Given the description of an element on the screen output the (x, y) to click on. 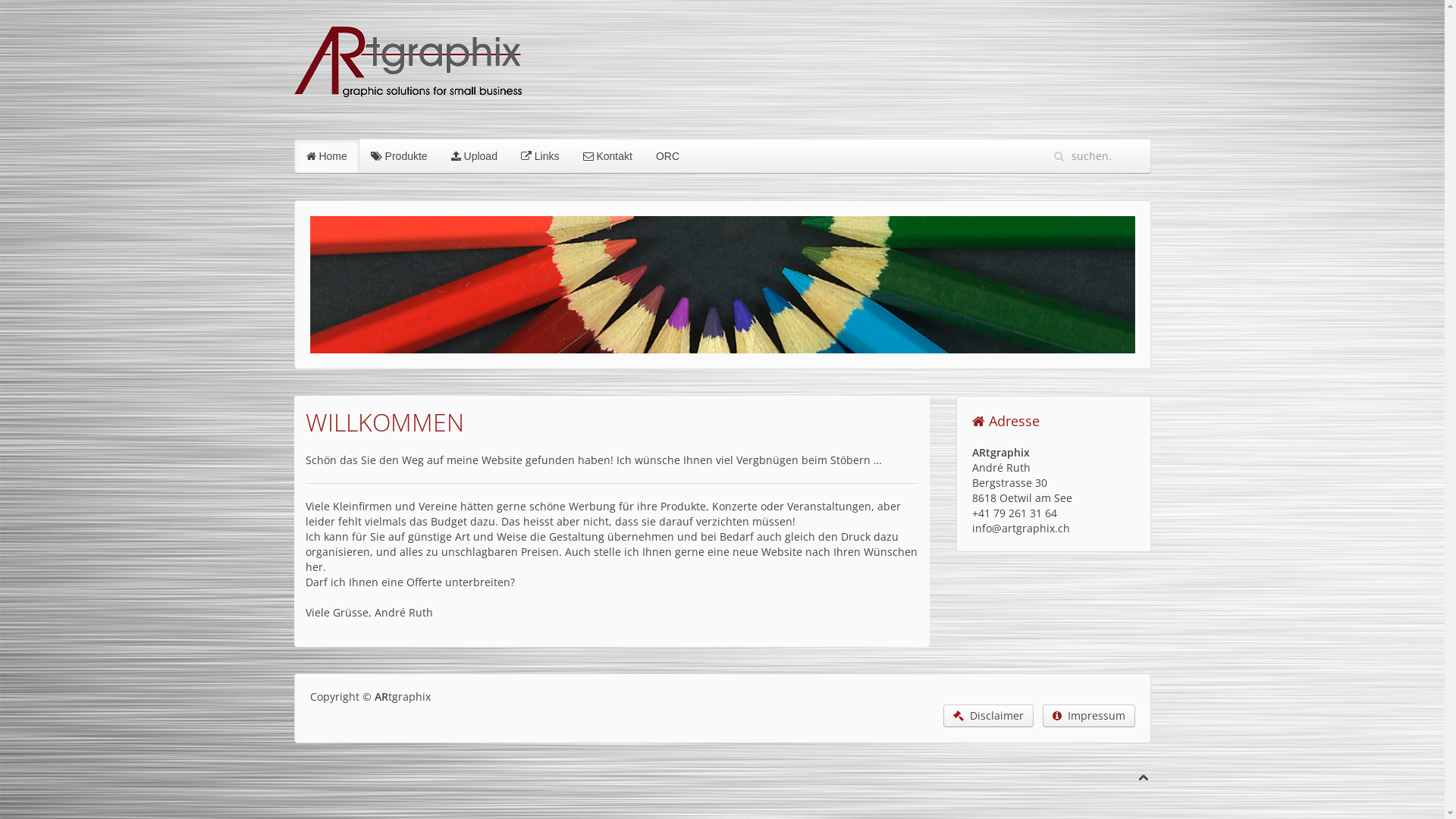
Kontakt Element type: text (607, 155)
Links Element type: text (539, 155)
ORC Element type: text (667, 155)
Produkte Element type: text (398, 155)
Home Element type: text (326, 155)
Upload Element type: text (474, 155)
  Disclaimer Element type: text (988, 715)
  Impressum Element type: text (1087, 715)
